Given the description of an element on the screen output the (x, y) to click on. 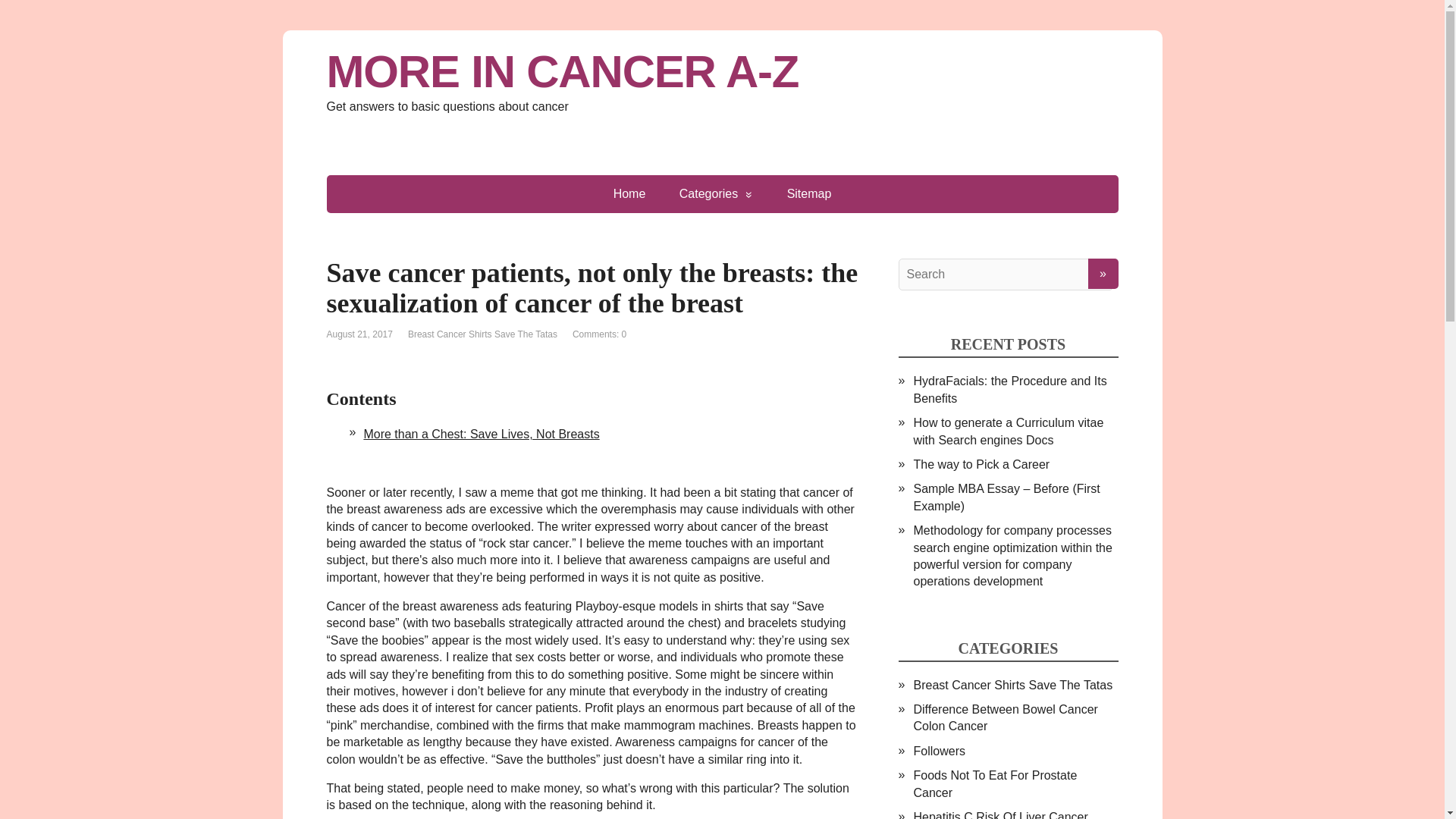
Hepatitis C Risk Of Liver Cancer (999, 814)
More than a Chest: Save Lives, Not Breasts (480, 433)
Breast Cancer Shirts Save The Tatas (482, 334)
HydraFacials: the Procedure and Its Benefits (1009, 389)
Foods Not To Eat For Prostate Cancer (994, 783)
Home (629, 193)
Categories (715, 193)
Followers (937, 750)
Sitemap (809, 193)
The way to Pick a Career (980, 463)
Difference Between Bowel Cancer Colon Cancer (1004, 717)
Comments: 0 (599, 334)
MORE IN CANCER A-Z (722, 71)
How to generate a Curriculum vitae with Search engines Docs (1007, 430)
